Given the description of an element on the screen output the (x, y) to click on. 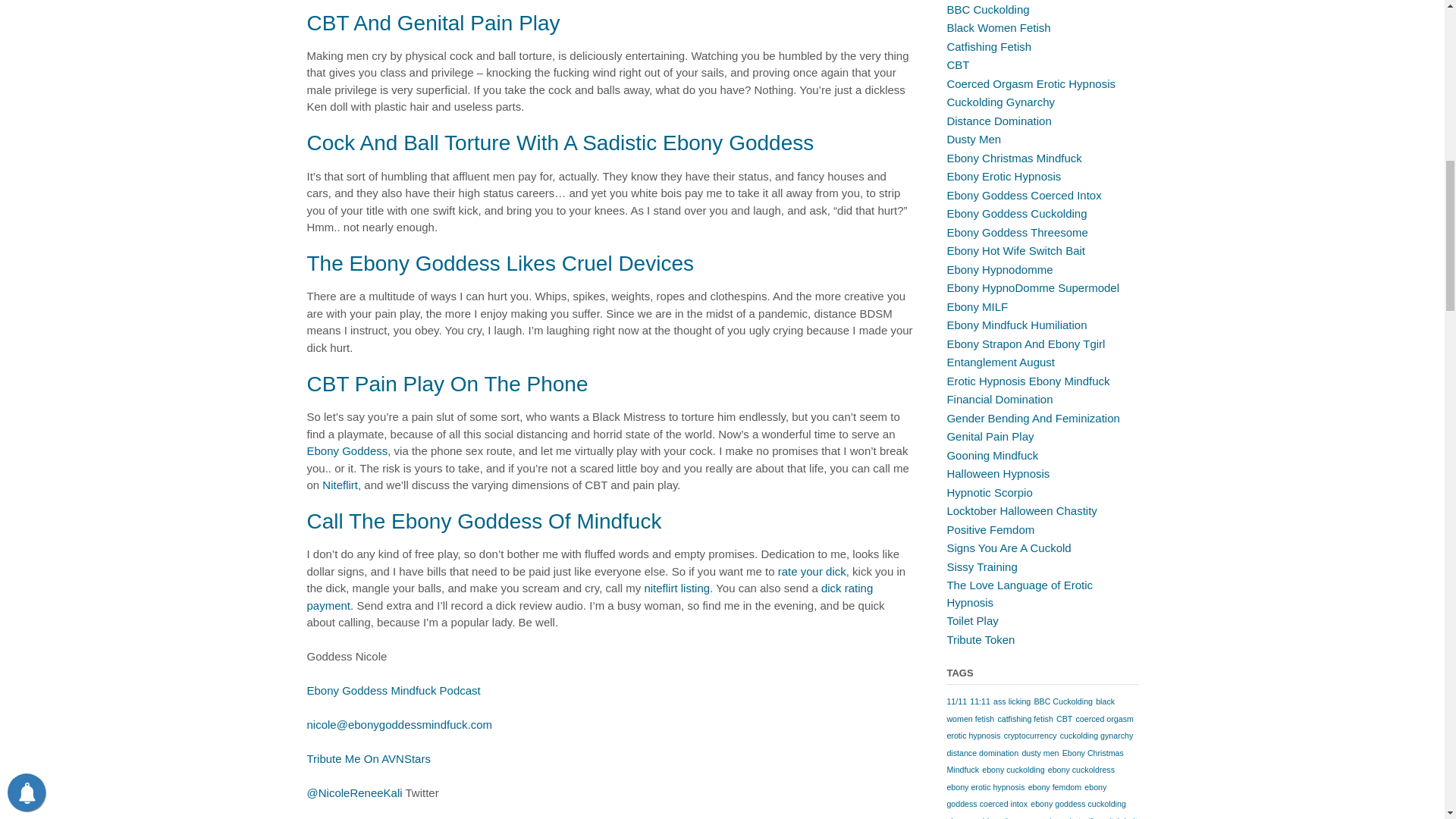
Niteflirt (339, 484)
niteflirt listing (676, 587)
dick rating payment (588, 596)
Ebony Goddess Mindfuck Podcast (392, 689)
Tribute Me On AVNStars (367, 758)
rate your dick (811, 571)
Ebony Goddess (346, 450)
